Given the description of an element on the screen output the (x, y) to click on. 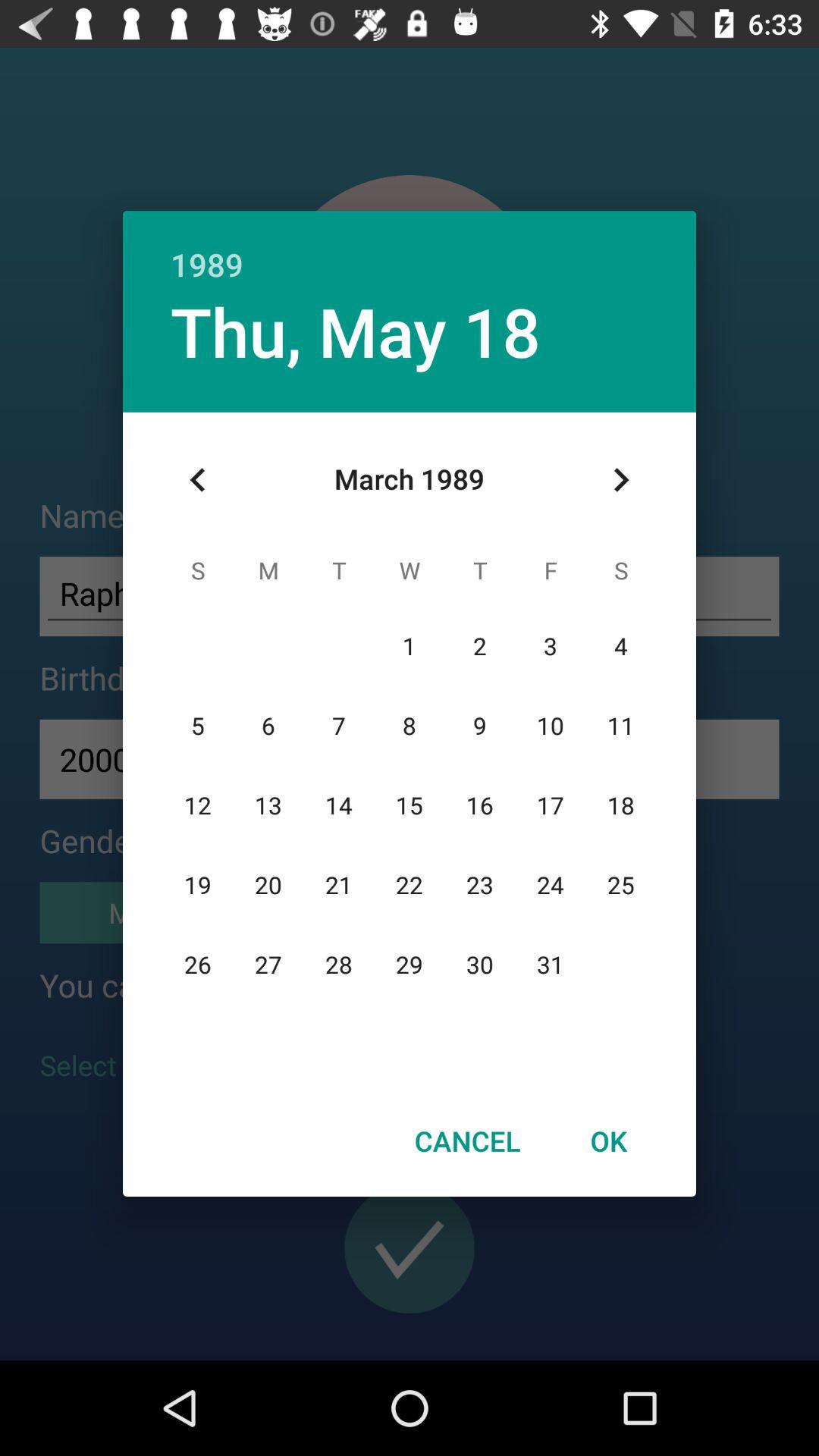
turn off item to the left of ok (467, 1140)
